Given the description of an element on the screen output the (x, y) to click on. 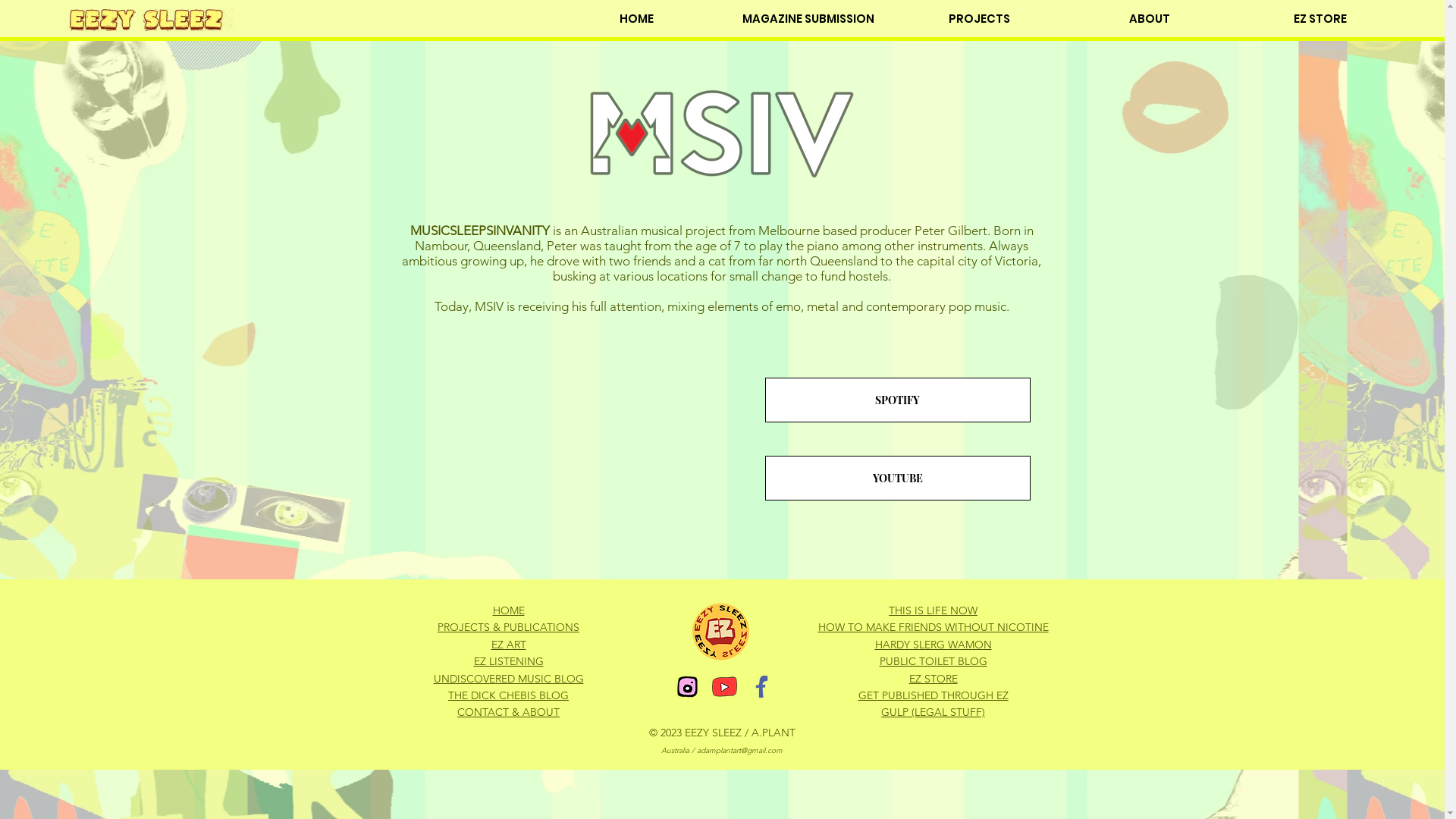
UNDISCOVERED MUSIC BLOG Element type: text (508, 678)
HOME Element type: text (508, 610)
EZ STORE Element type: text (1319, 18)
THE DICK CHEBIS BLOG Element type: text (508, 695)
HOW TO MAKE FRIENDS WITHOUT NICOTINE Element type: text (932, 626)
EZ ART Element type: text (508, 644)
GET PUBLISHED THROUGH EZ Element type: text (933, 695)
PROJECTS Element type: text (978, 18)
EZ LISTENING Element type: text (507, 661)
PROJECTS & PUBLICATIONS Element type: text (508, 626)
EZ STORE Element type: text (932, 678)
THIS IS LIFE NOW Element type: text (932, 610)
HOME Element type: text (635, 18)
adamplantart@gmail.com Element type: text (739, 750)
HARDY SLERG WAMON Element type: text (933, 644)
CONTACT & ABOUT Element type: text (508, 711)
ABOUT Element type: text (1149, 18)
SPOTIFY Element type: text (896, 399)
PUBLIC TOILET BLOG Element type: text (933, 661)
GULP (LEGAL STUFF) Element type: text (933, 711)
MAGAZINE SUBMISSION Element type: text (807, 18)
YOUTUBE Element type: text (896, 477)
